Given the description of an element on the screen output the (x, y) to click on. 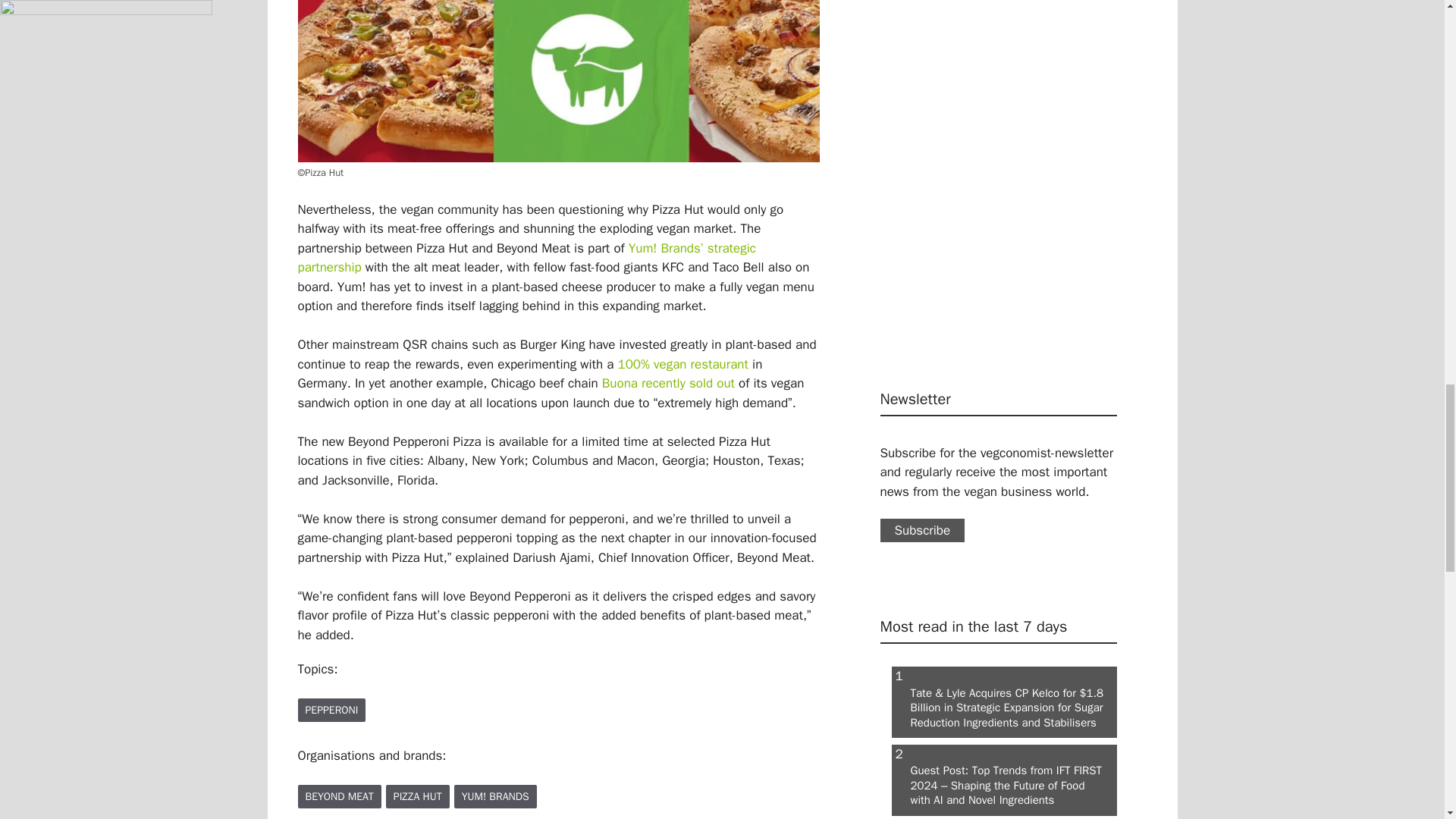
Yum! Brands (495, 796)
Pepperoni (331, 709)
Pizza Hut (417, 796)
Beyond Meat (338, 796)
